Given the description of an element on the screen output the (x, y) to click on. 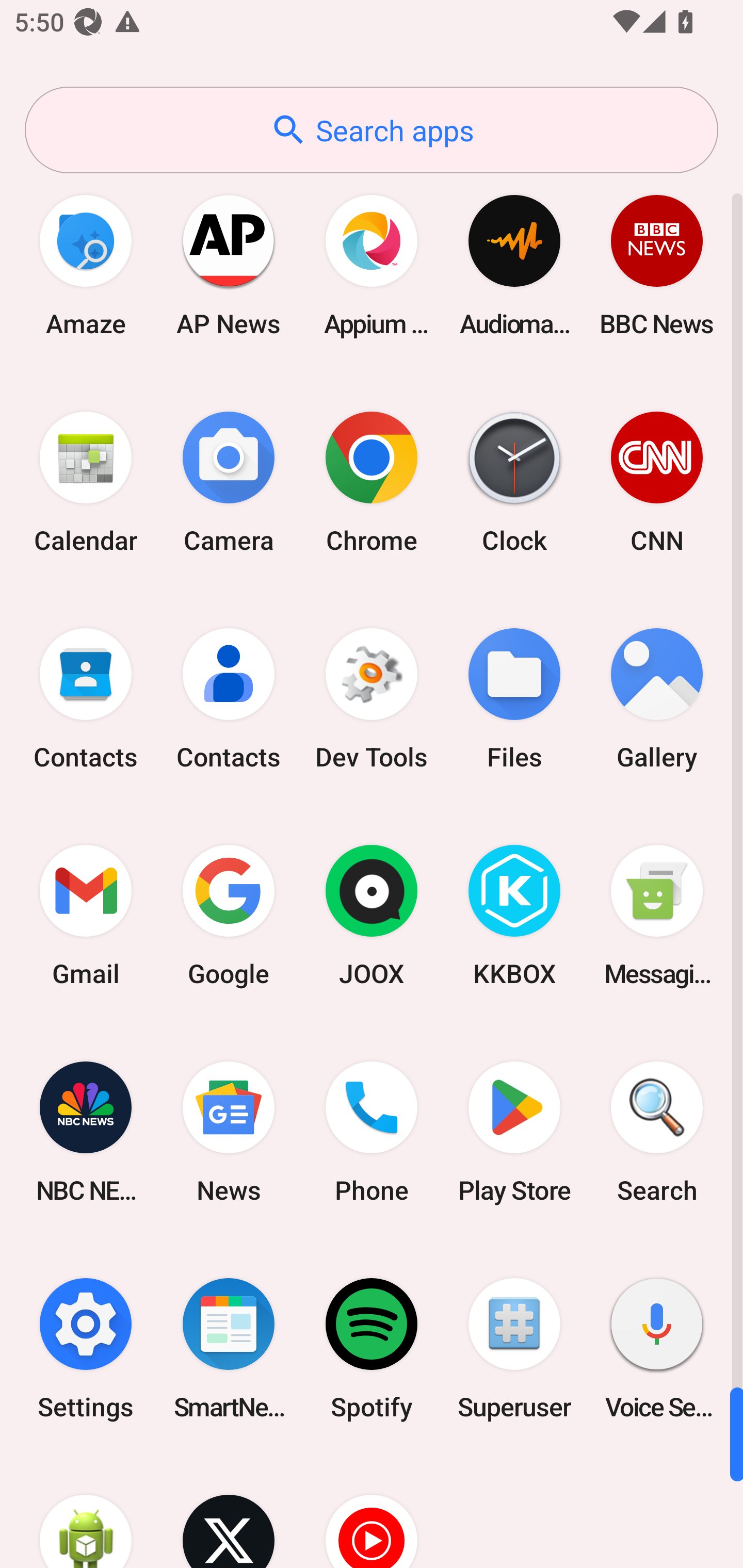
  Search apps (371, 130)
Amaze (85, 264)
AP News (228, 264)
Appium Settings (371, 264)
Audio­mack (514, 264)
BBC News (656, 264)
Calendar (85, 482)
Camera (228, 482)
Chrome (371, 482)
Clock (514, 482)
CNN (656, 482)
Contacts (85, 699)
Contacts (228, 699)
Dev Tools (371, 699)
Files (514, 699)
Gallery (656, 699)
Gmail (85, 915)
Google (228, 915)
JOOX (371, 915)
KKBOX (514, 915)
Messaging (656, 915)
NBC NEWS (85, 1131)
News (228, 1131)
Phone (371, 1131)
Play Store (514, 1131)
Search (656, 1131)
Settings (85, 1348)
SmartNews (228, 1348)
Spotify (371, 1348)
Superuser (514, 1348)
Voice Search (656, 1348)
WebView Browser Tester (85, 1512)
X (228, 1512)
YT Music (371, 1512)
